Given the description of an element on the screen output the (x, y) to click on. 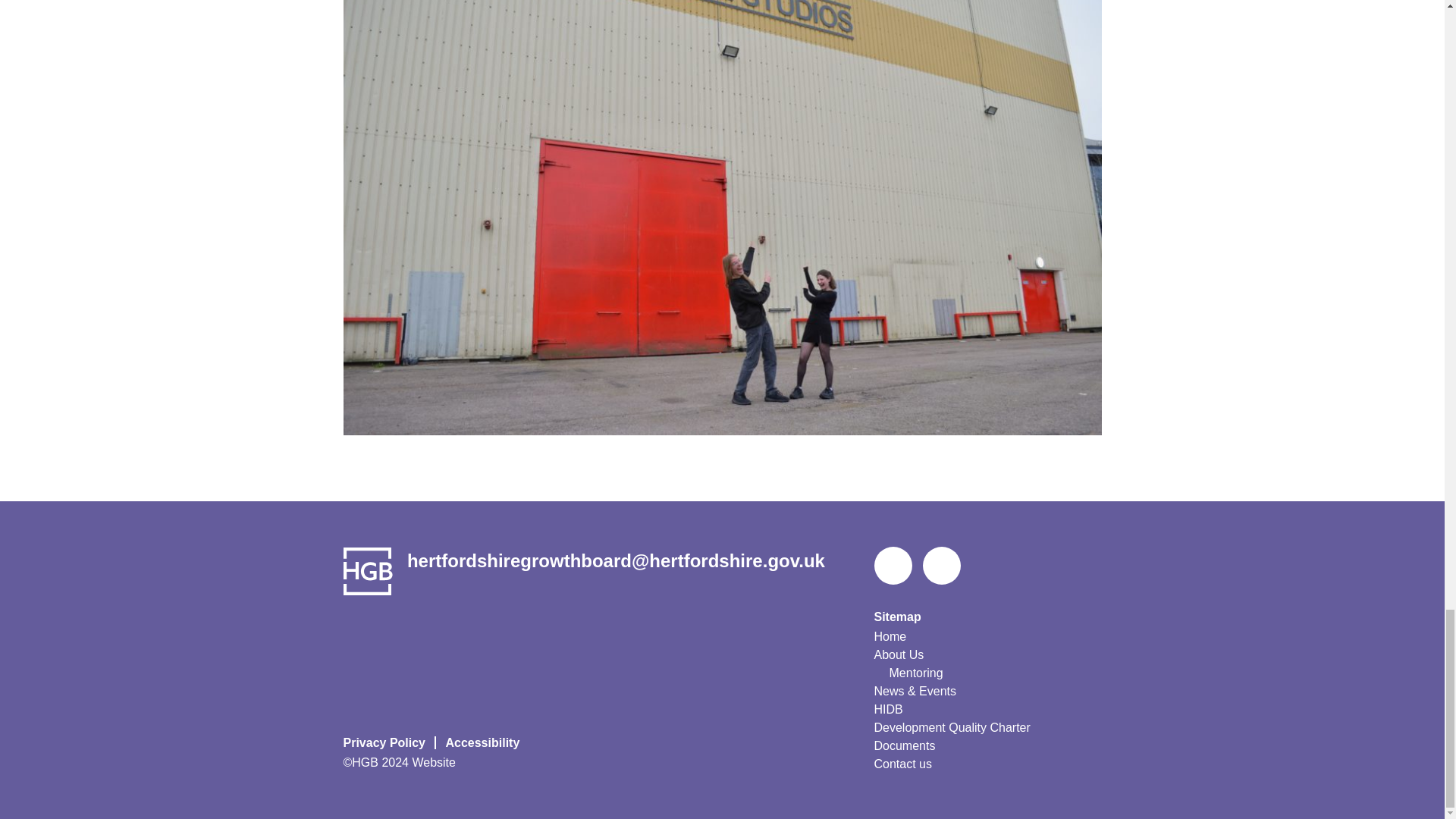
Development Quality Charter (951, 728)
Mentoring (915, 673)
Privacy Policy (388, 742)
Accessibility (483, 742)
Home (889, 637)
Documents (903, 746)
HIDB (887, 710)
Contact us (902, 764)
About Us (898, 655)
